Given the description of an element on the screen output the (x, y) to click on. 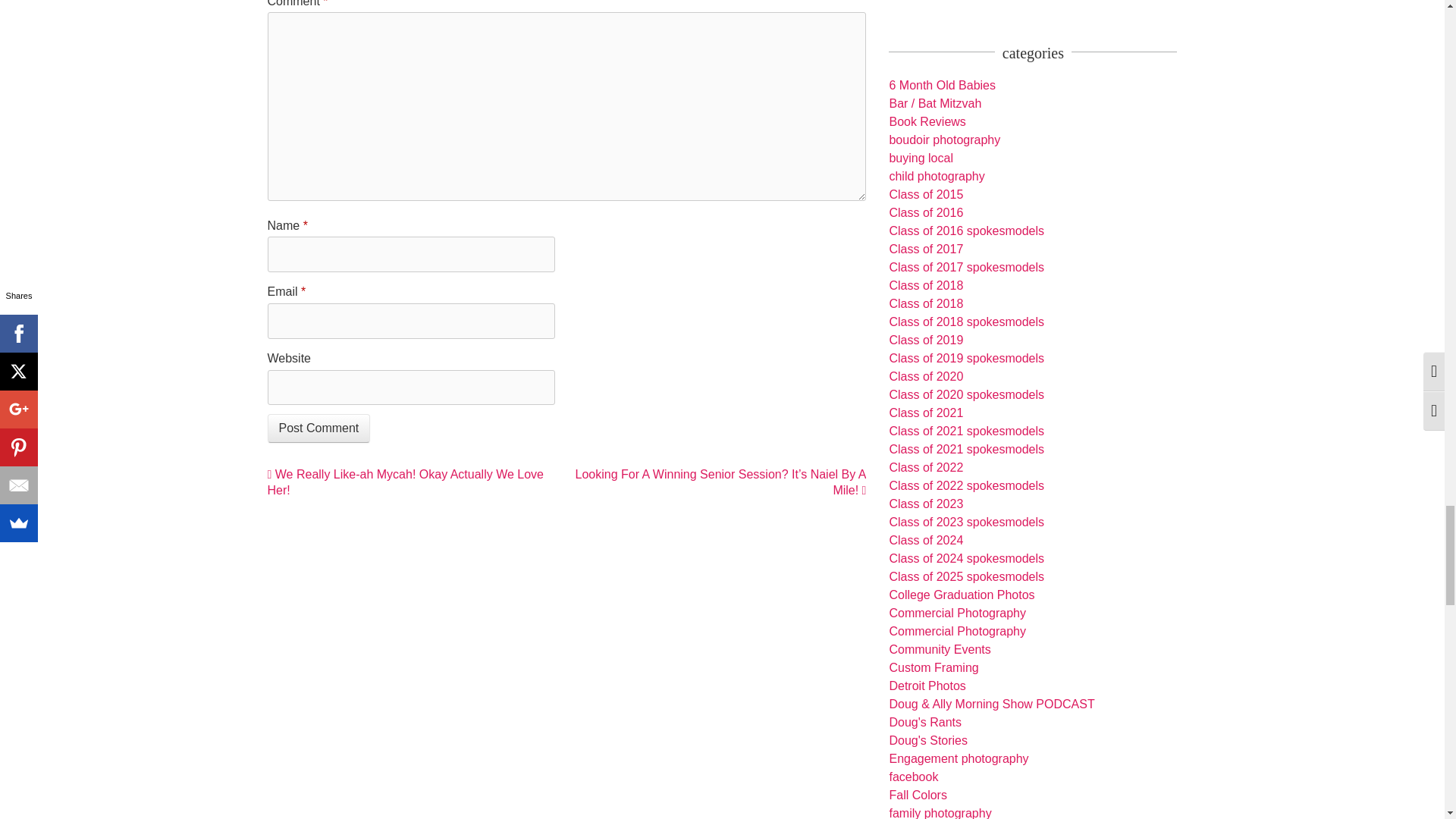
Post Comment (317, 428)
